Given the description of an element on the screen output the (x, y) to click on. 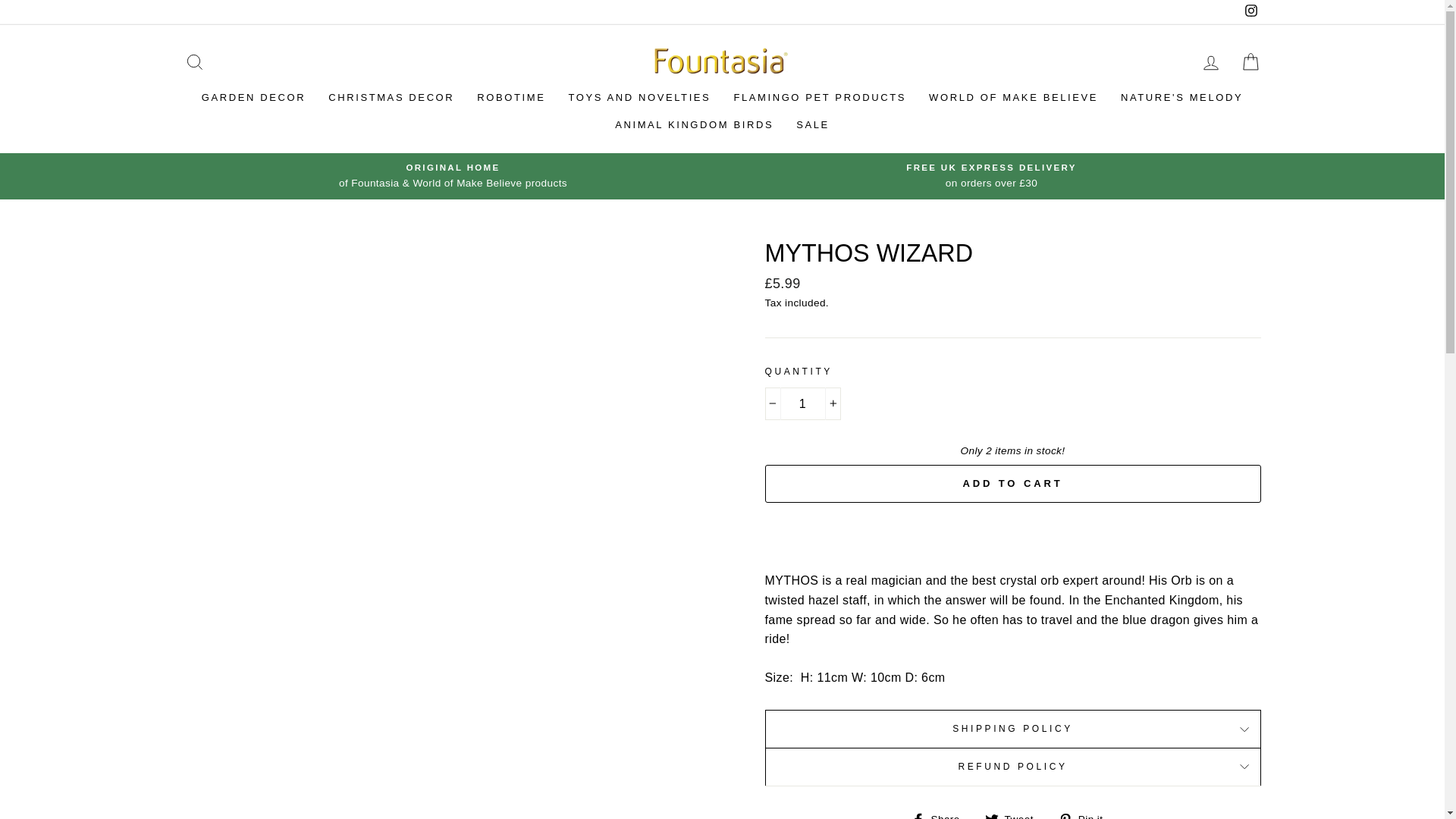
Share on Facebook (941, 814)
1 (802, 403)
Tweet on Twitter (1015, 814)
Pin on Pinterest (1085, 814)
